Given the description of an element on the screen output the (x, y) to click on. 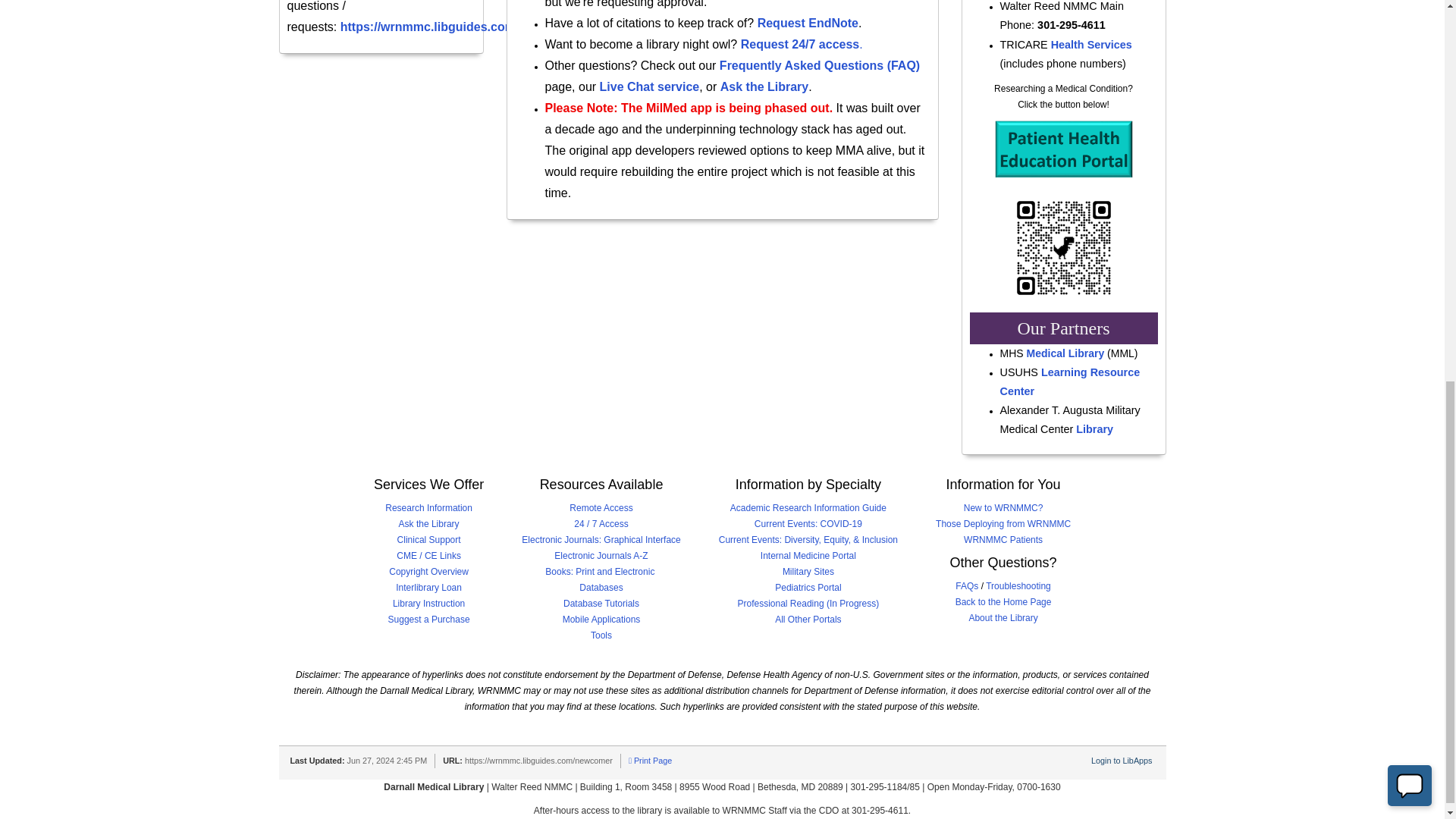
Interlibrary Loan (428, 587)
All Other Portals (807, 619)
Live Chat service (649, 86)
Pediatrics Portal (807, 587)
Request EndNote (808, 22)
Medical Library (1065, 353)
Copyright Overview (428, 571)
Ask the Library (764, 86)
Ask the Library (429, 523)
Mobile Applications (601, 619)
